Given the description of an element on the screen output the (x, y) to click on. 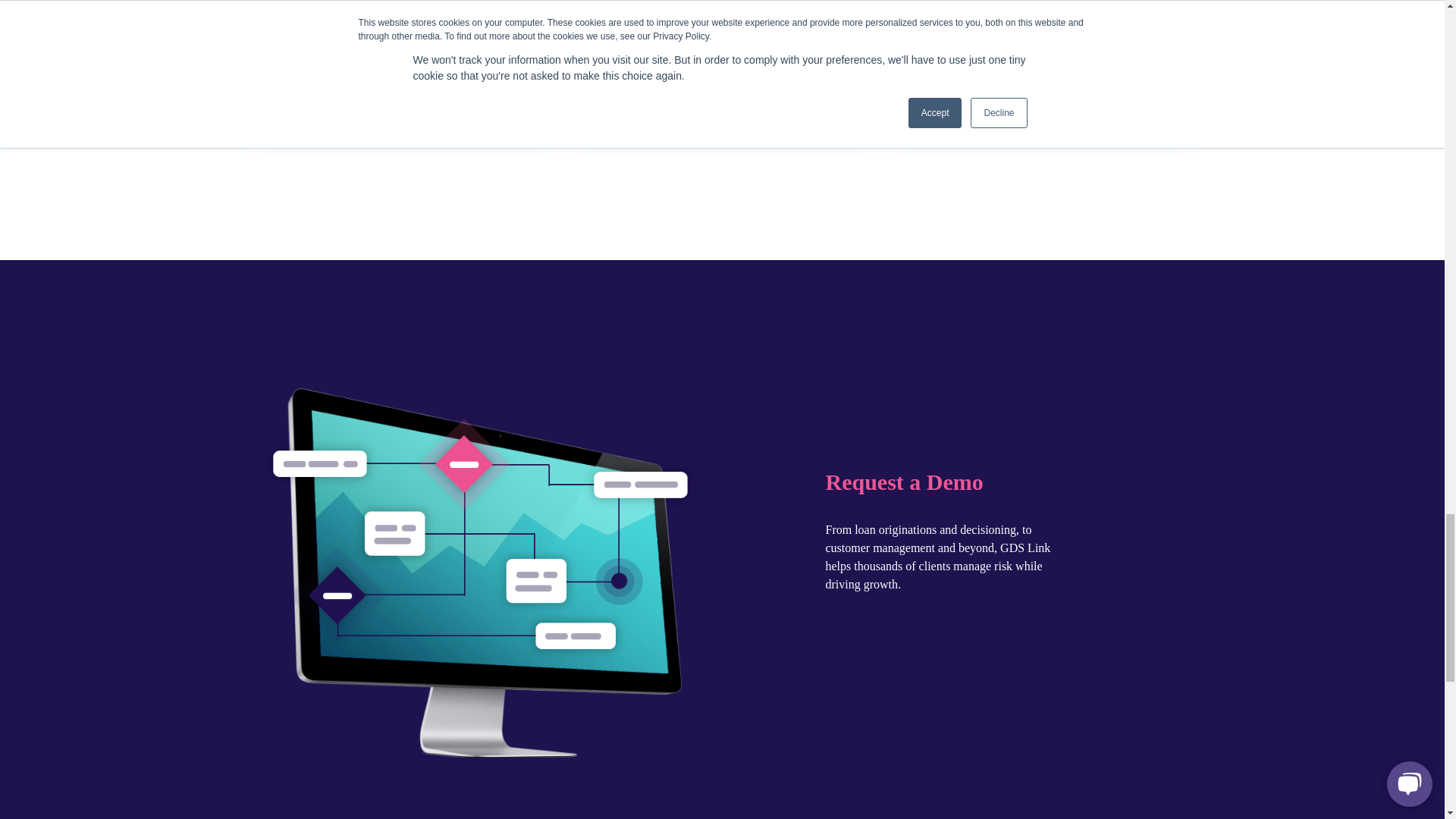
Read (403, 117)
Capital on Tap Renews GDS Link Partnership (721, 33)
Read (721, 117)
Read (1040, 117)
The Rise and Challenges of Cash Flow Underwriting in FinTech (403, 17)
